Given the description of an element on the screen output the (x, y) to click on. 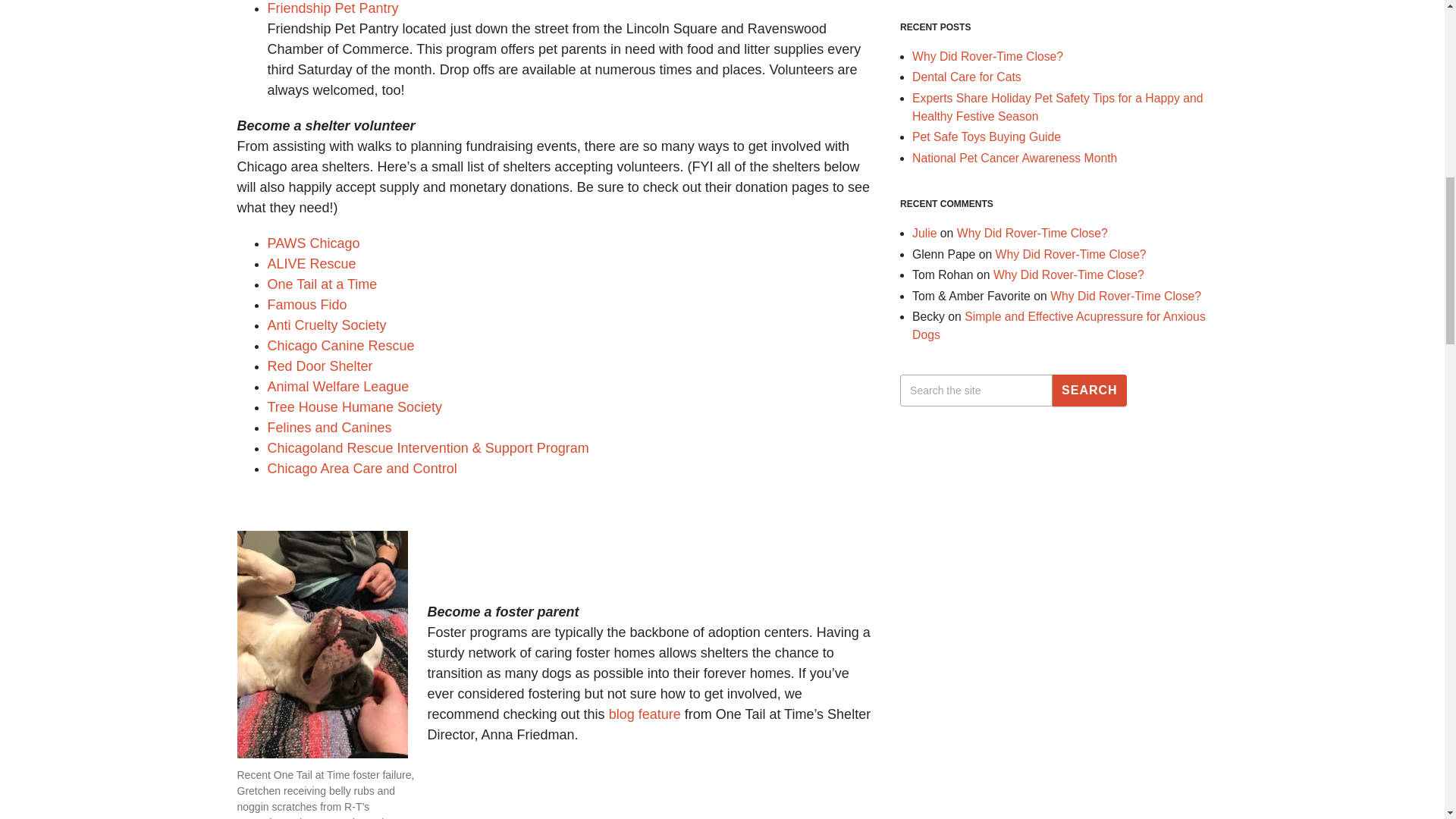
Tree House Humane Society (353, 406)
blog feature (644, 713)
Chicago Area Care and Control (361, 468)
Felines and Canines (328, 427)
Famous Fido (306, 304)
Anti Cruelty Society (325, 324)
Animal Welfare League (337, 386)
PAWS Chicago (312, 242)
Friendship Pet Pantry (331, 7)
Chicago Canine Rescue (339, 345)
